Given the description of an element on the screen output the (x, y) to click on. 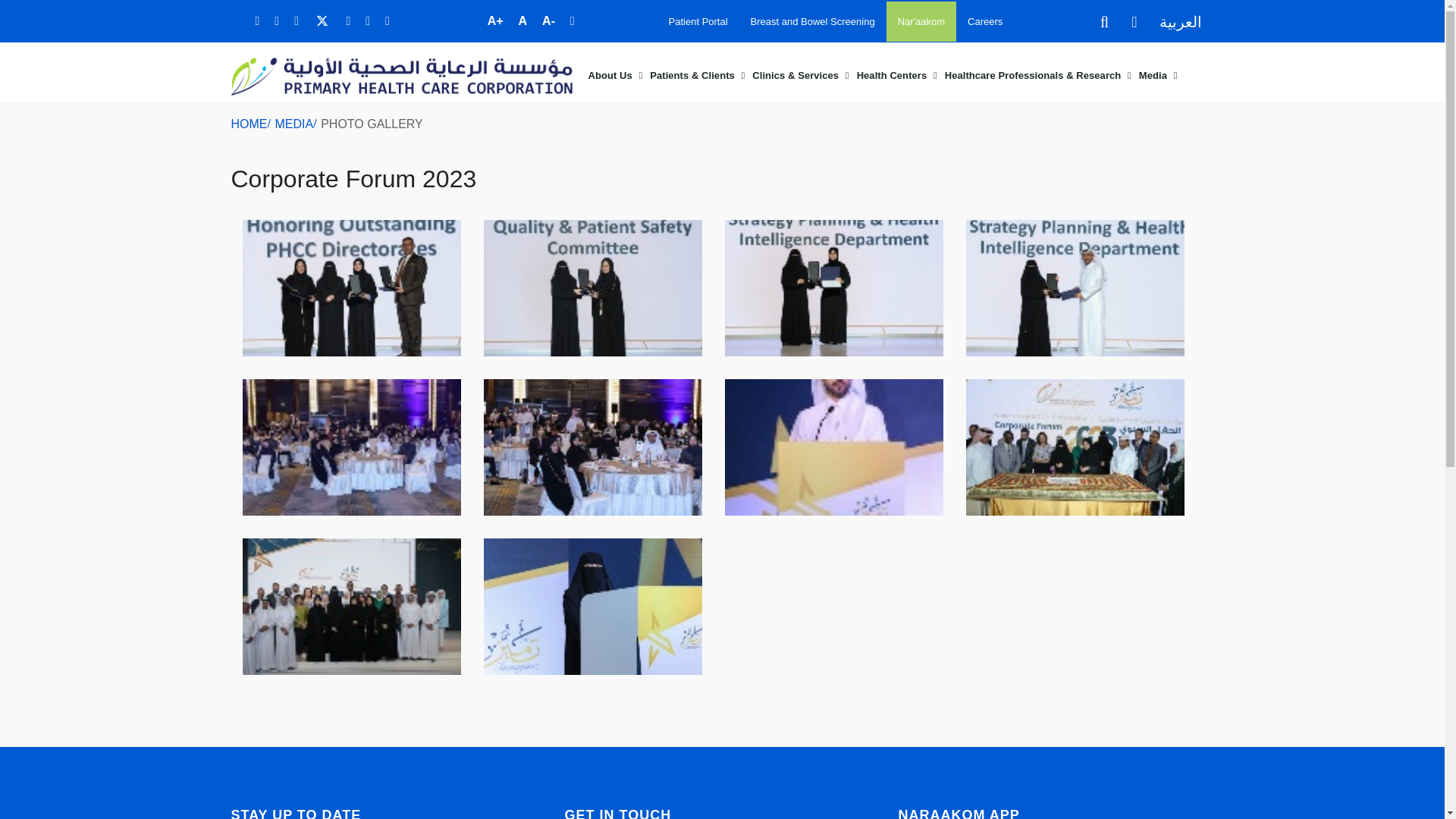
Breast and Bowel Screening (812, 21)
Careers (984, 21)
Nar'aakom (921, 21)
About Us (614, 75)
A (523, 20)
Colour Contrast Selector (572, 20)
A- (548, 20)
Patient Portal (698, 21)
